Given the description of an element on the screen output the (x, y) to click on. 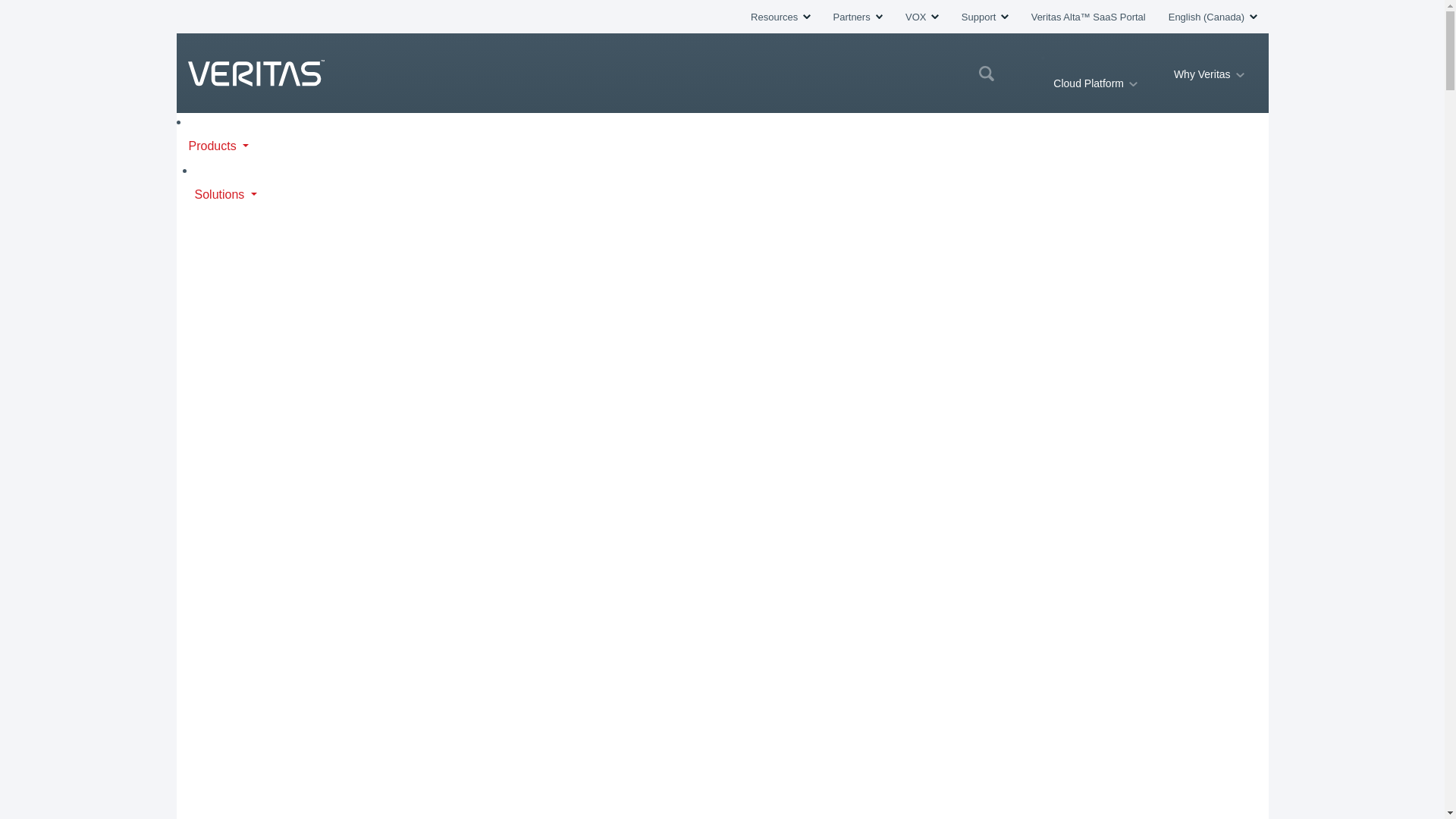
VOX (922, 16)
Resources (780, 16)
Partners (857, 16)
Support (984, 16)
